Given the description of an element on the screen output the (x, y) to click on. 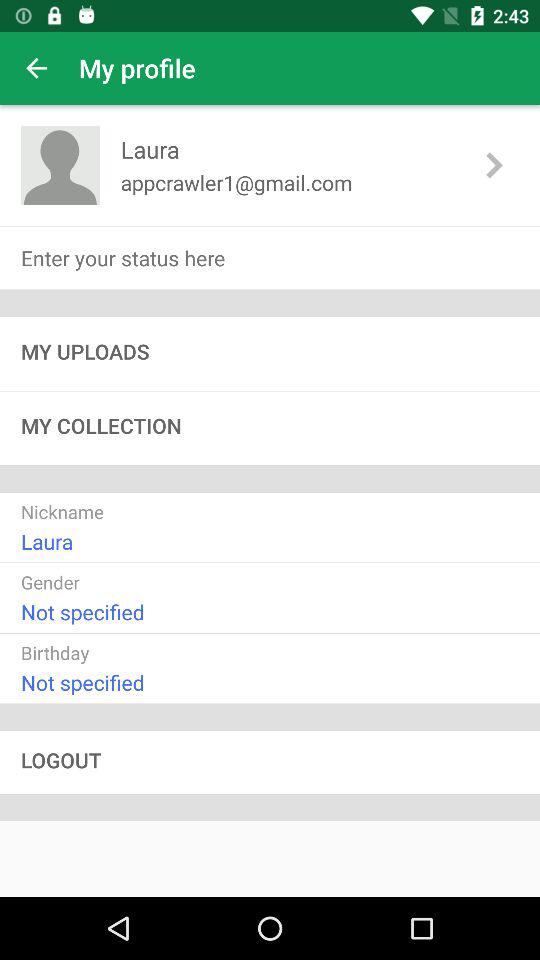
swipe to my collection item (270, 428)
